Given the description of an element on the screen output the (x, y) to click on. 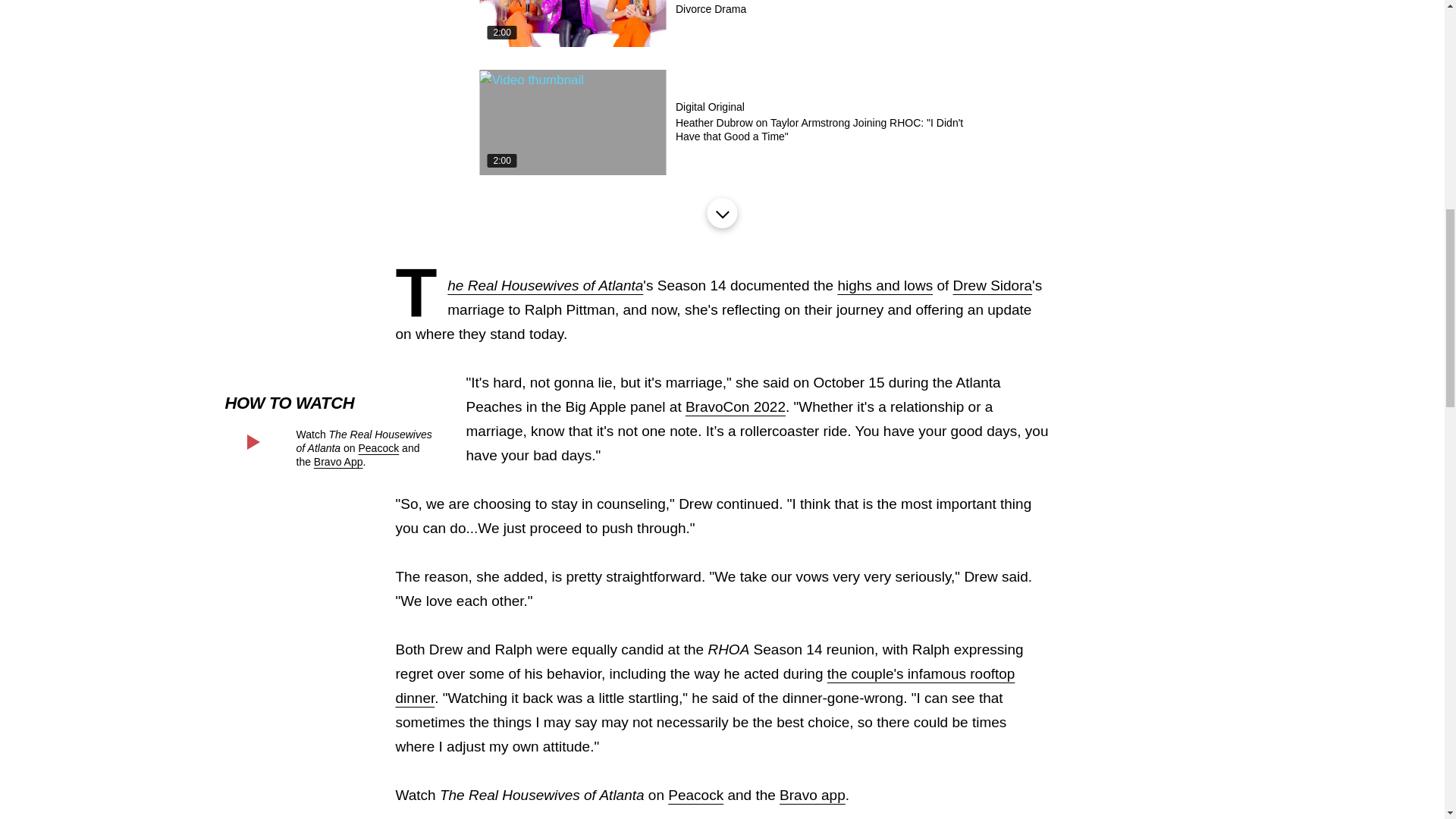
Drew Sidora (992, 285)
highs and lows (885, 285)
Load More (721, 213)
BravoCon 2022 (735, 406)
The Real Housewives of Atlanta (544, 285)
Peacock (695, 795)
Peacock (378, 448)
Bravo App (338, 461)
